Given the description of an element on the screen output the (x, y) to click on. 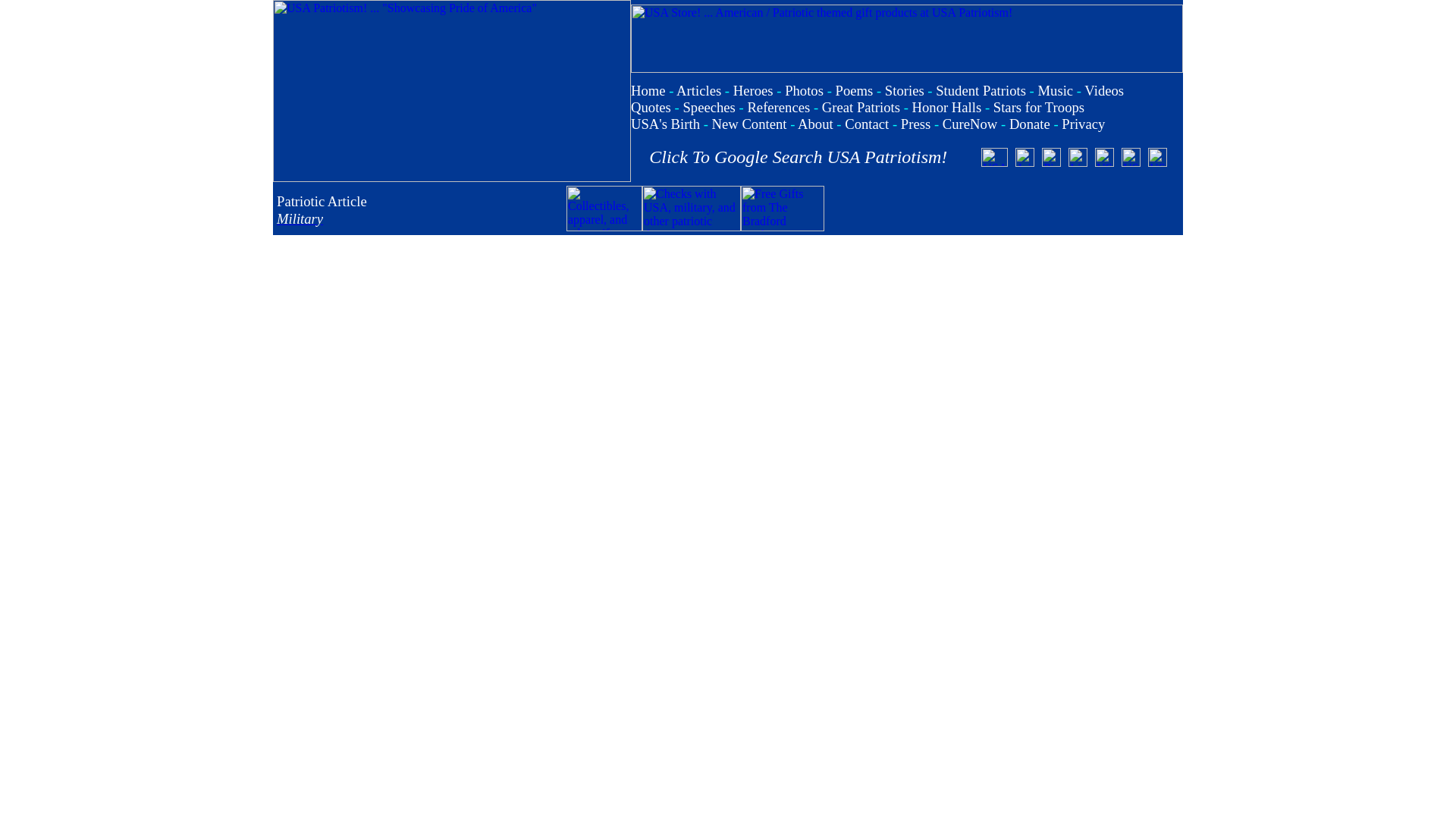
Home (647, 90)
USA's Birth (665, 123)
Videos (1104, 90)
Heroes (753, 90)
New Content (749, 123)
References (777, 107)
Military (299, 218)
Music (1054, 90)
Click To Google Search USA Patriotism! (798, 157)
Contact (866, 123)
CureNow (969, 123)
Stories (904, 90)
Student Patriots (981, 90)
Photos (804, 90)
Poems (854, 90)
